Given the description of an element on the screen output the (x, y) to click on. 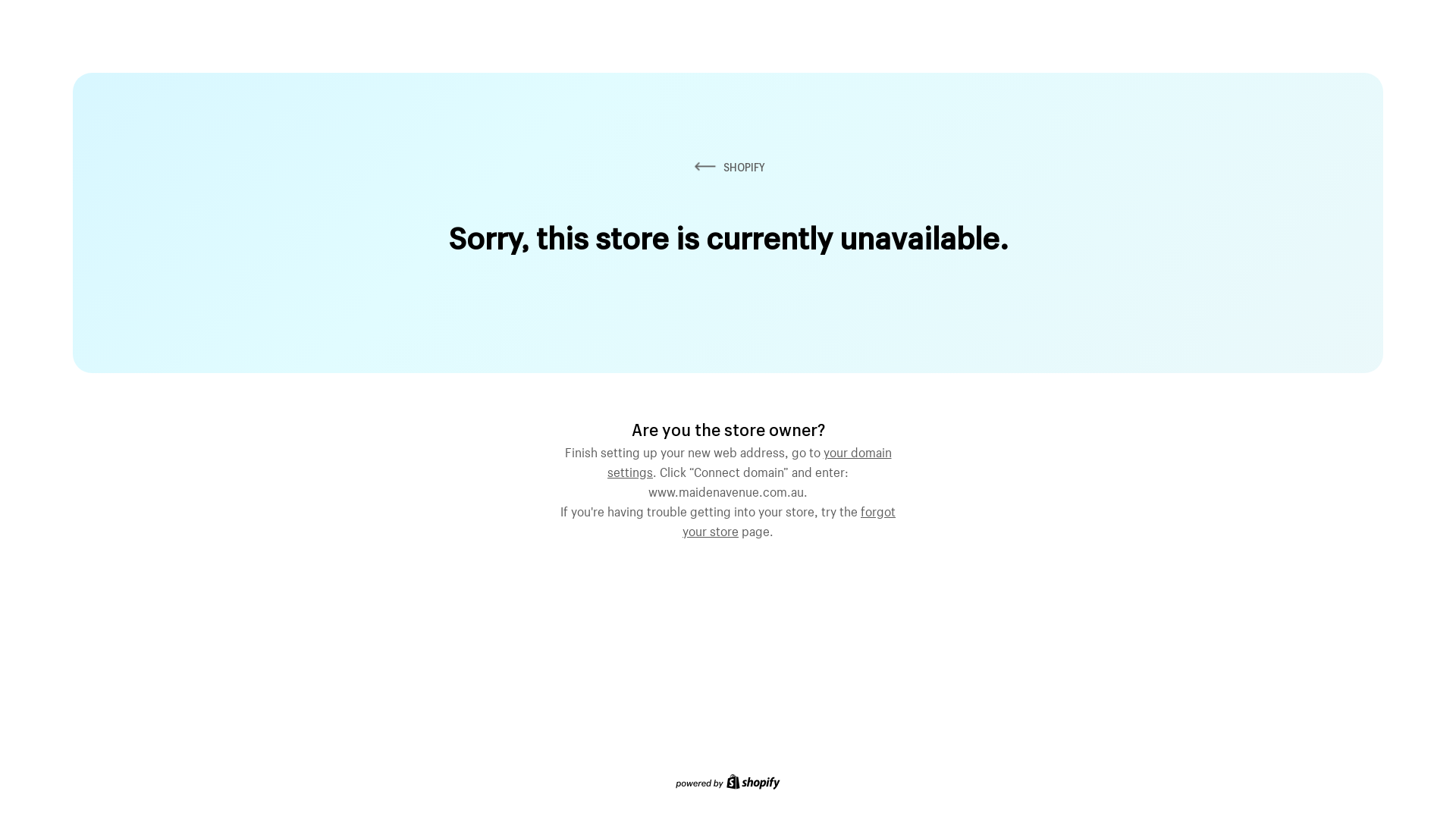
forgot your store Element type: text (788, 519)
SHOPIFY Element type: text (727, 167)
your domain settings Element type: text (749, 460)
